Given the description of an element on the screen output the (x, y) to click on. 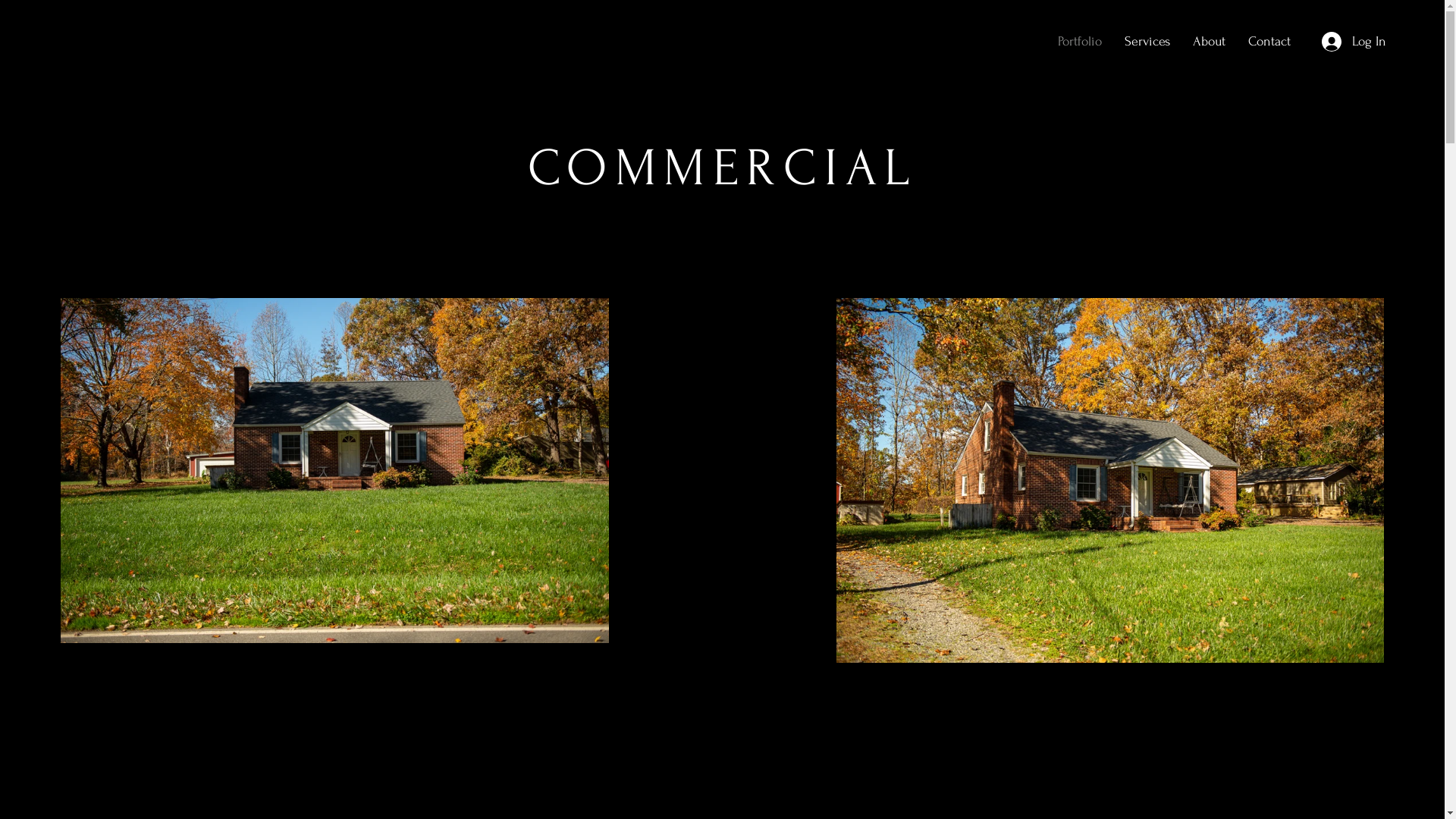
Log In Element type: text (1353, 41)
Services Element type: text (1147, 41)
Contact Element type: text (1269, 41)
About Element type: text (1208, 41)
Portfolio Element type: text (1079, 41)
